Given the description of an element on the screen output the (x, y) to click on. 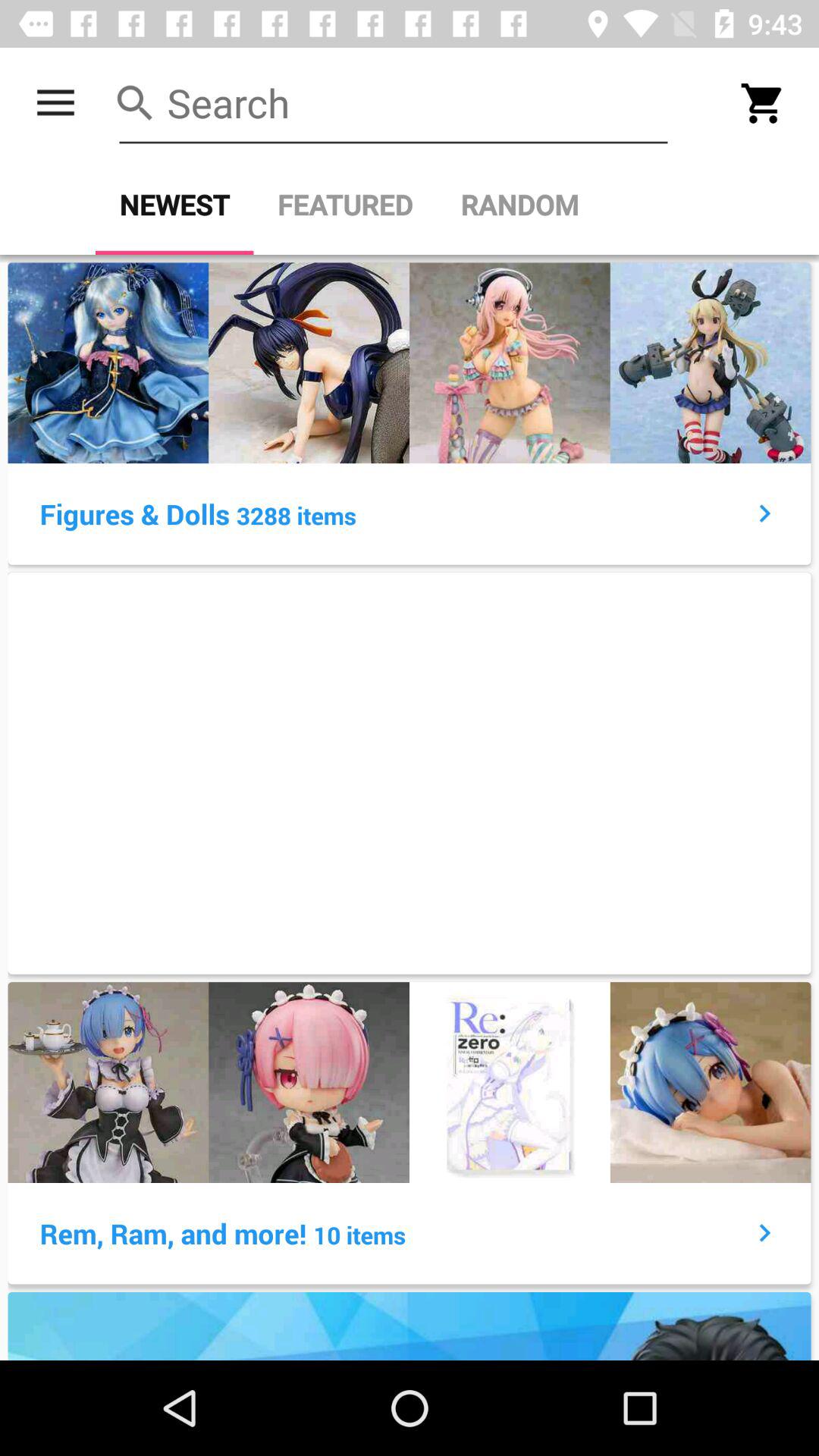
click icon next to random item (344, 204)
